Given the description of an element on the screen output the (x, y) to click on. 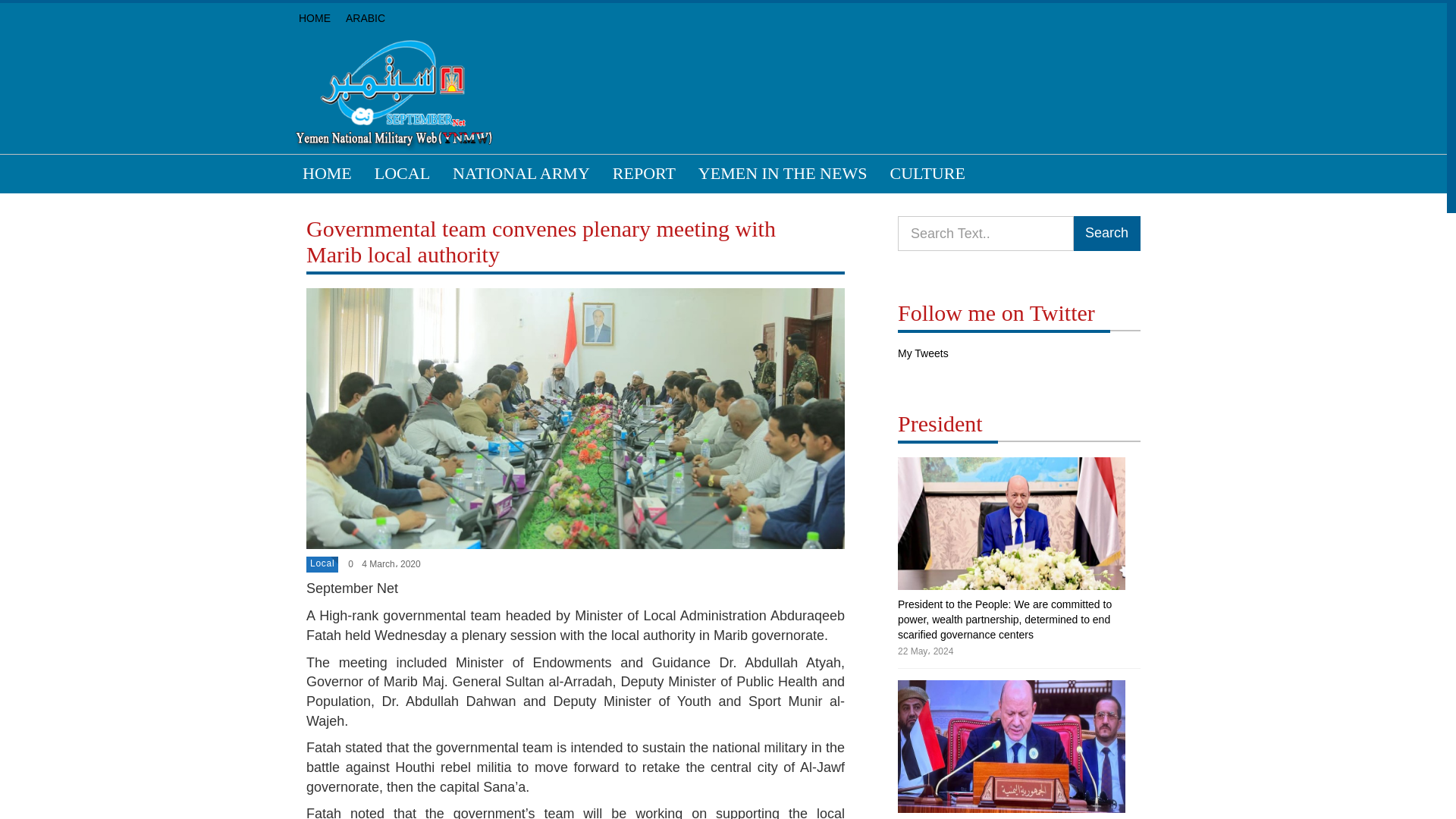
Search (1106, 233)
LOCAL (401, 173)
My Tweets (923, 353)
ARABIC (365, 18)
Local (322, 562)
REPORT (644, 173)
NATIONAL ARMY (521, 173)
CULTURE (926, 173)
YEMEN IN THE NEWS (783, 173)
HOME (314, 18)
HOME (326, 173)
